Given the description of an element on the screen output the (x, y) to click on. 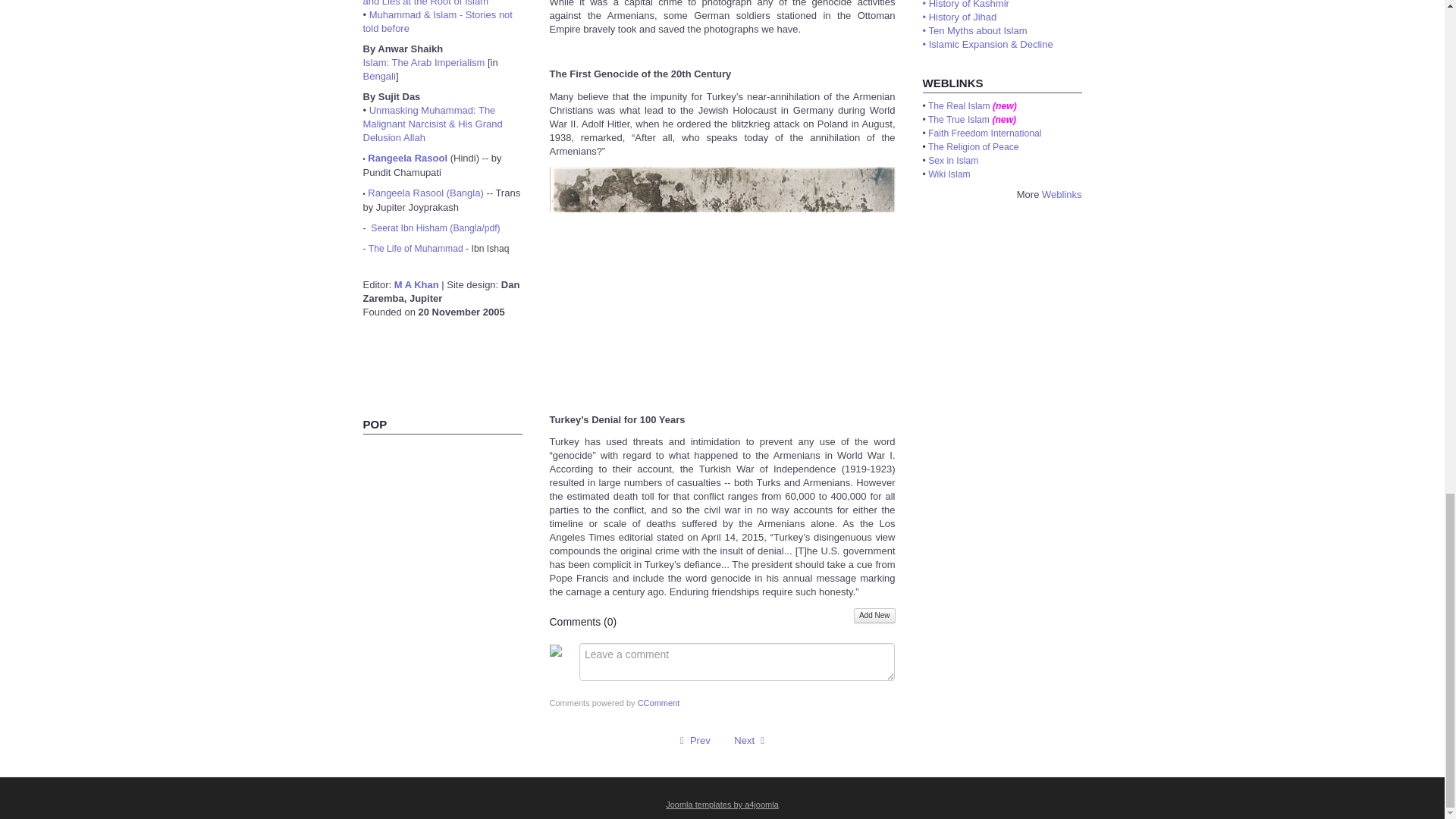
Life of Muhammad -- Ibn Ishaq (415, 248)
Islam: The Arab Imperialism (423, 61)
Seerat Rasul Allah -- Ibn Ishaq (435, 227)
The Life of Muhammad (415, 248)
Muhammad and His Quran: Blood and Lies at the Root of Islam (440, 3)
The True Islam -- Islam in its true color (959, 105)
Bengali (378, 75)
Rangeela Rasool (407, 157)
True Islam -- Islam's True color (959, 119)
Add New (874, 615)
